Given the description of an element on the screen output the (x, y) to click on. 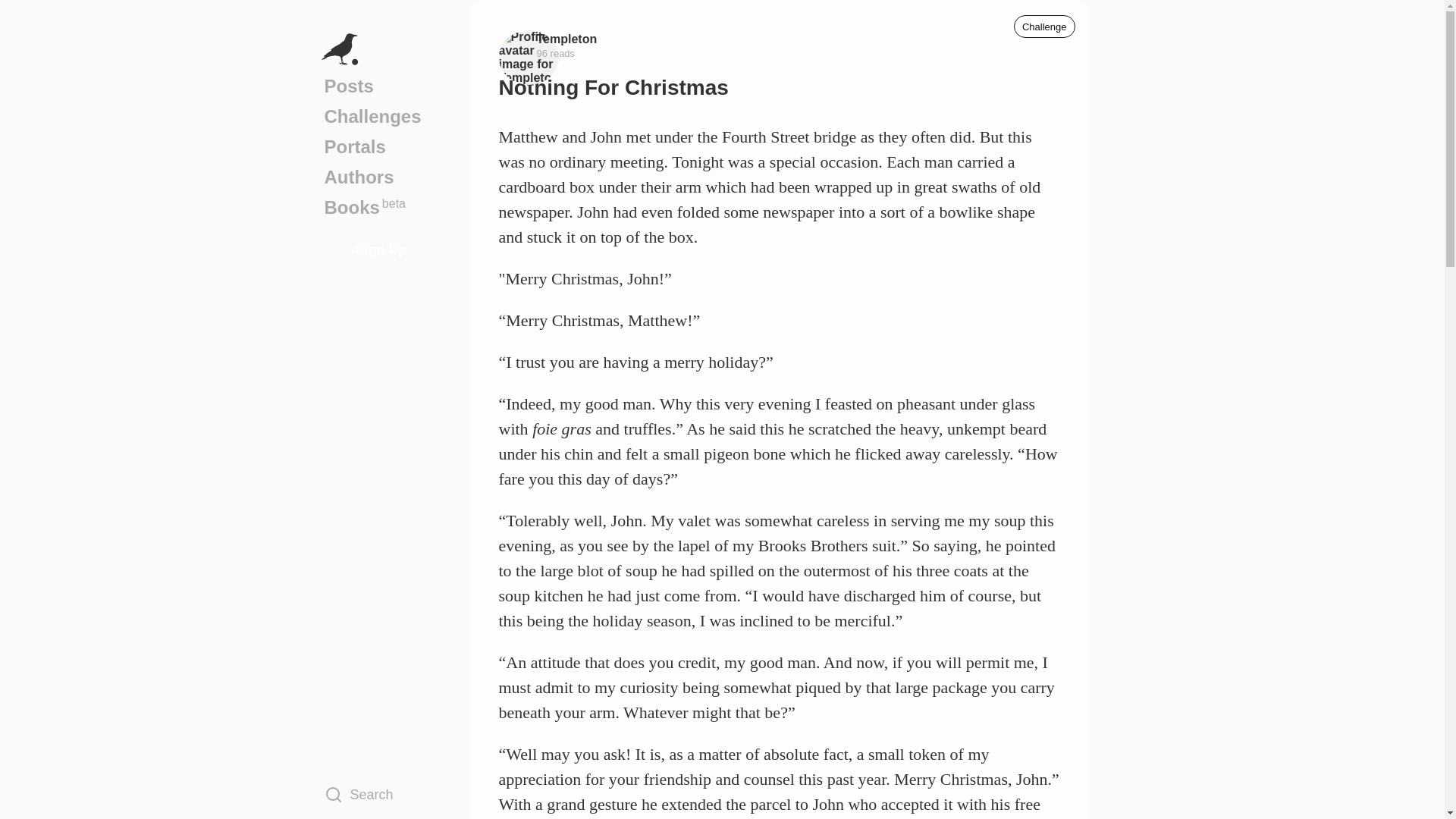
Challenges (381, 207)
Templeton (381, 116)
Posts (566, 38)
Search (381, 86)
Portals (381, 794)
Challenge (381, 146)
Authors (1044, 26)
